Given the description of an element on the screen output the (x, y) to click on. 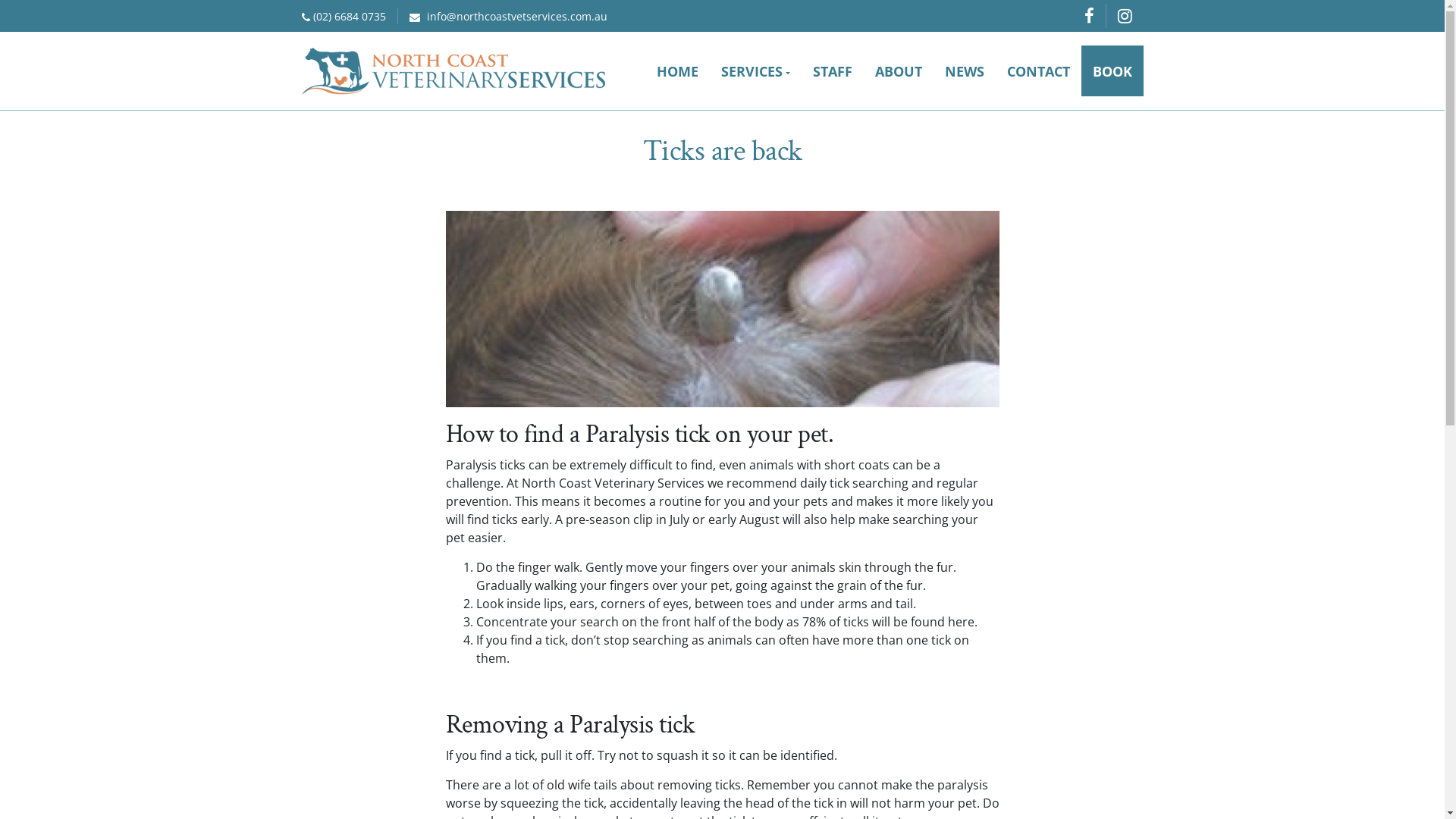
NEWS Element type: text (963, 70)
HOME Element type: text (677, 70)
BOOK Element type: text (1112, 70)
ABOUT Element type: text (897, 70)
SERVICES Element type: text (754, 70)
CONTACT Element type: text (1037, 70)
Facebook Element type: text (1095, 15)
Instagram Element type: text (1124, 15)
Home Element type: hover (453, 70)
info@northcoastvetservices.com.au Element type: text (508, 16)
STAFF Element type: text (831, 70)
